Given the description of an element on the screen output the (x, y) to click on. 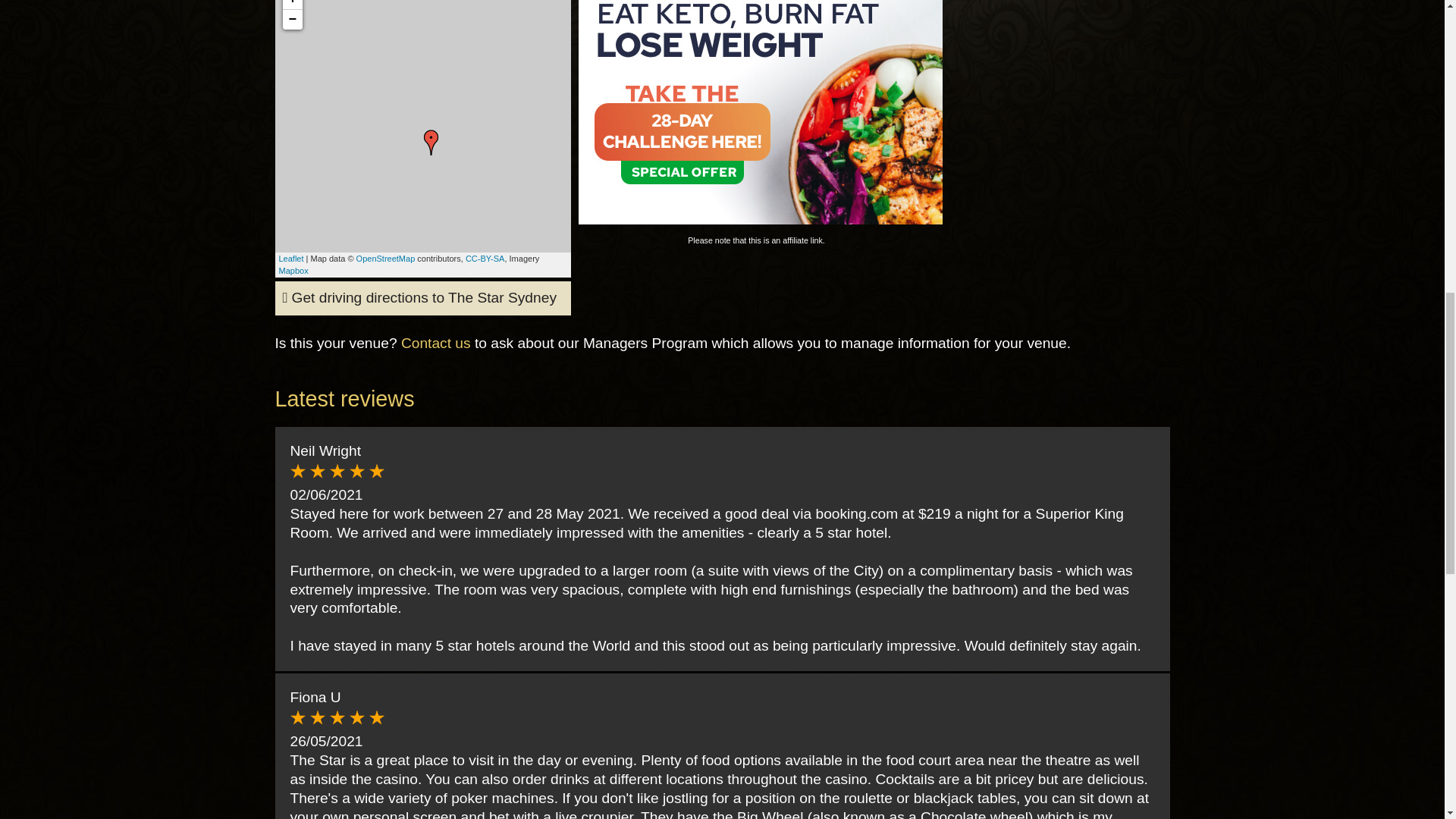
Leaflet (291, 257)
Zoom in (291, 4)
Mapbox (293, 270)
Get driving directions to The Star Sydney (419, 298)
A JS library for interactive maps (291, 257)
Contact us (435, 342)
Zoom out (291, 19)
CC-BY-SA (485, 257)
OpenStreetMap (385, 257)
